Given the description of an element on the screen output the (x, y) to click on. 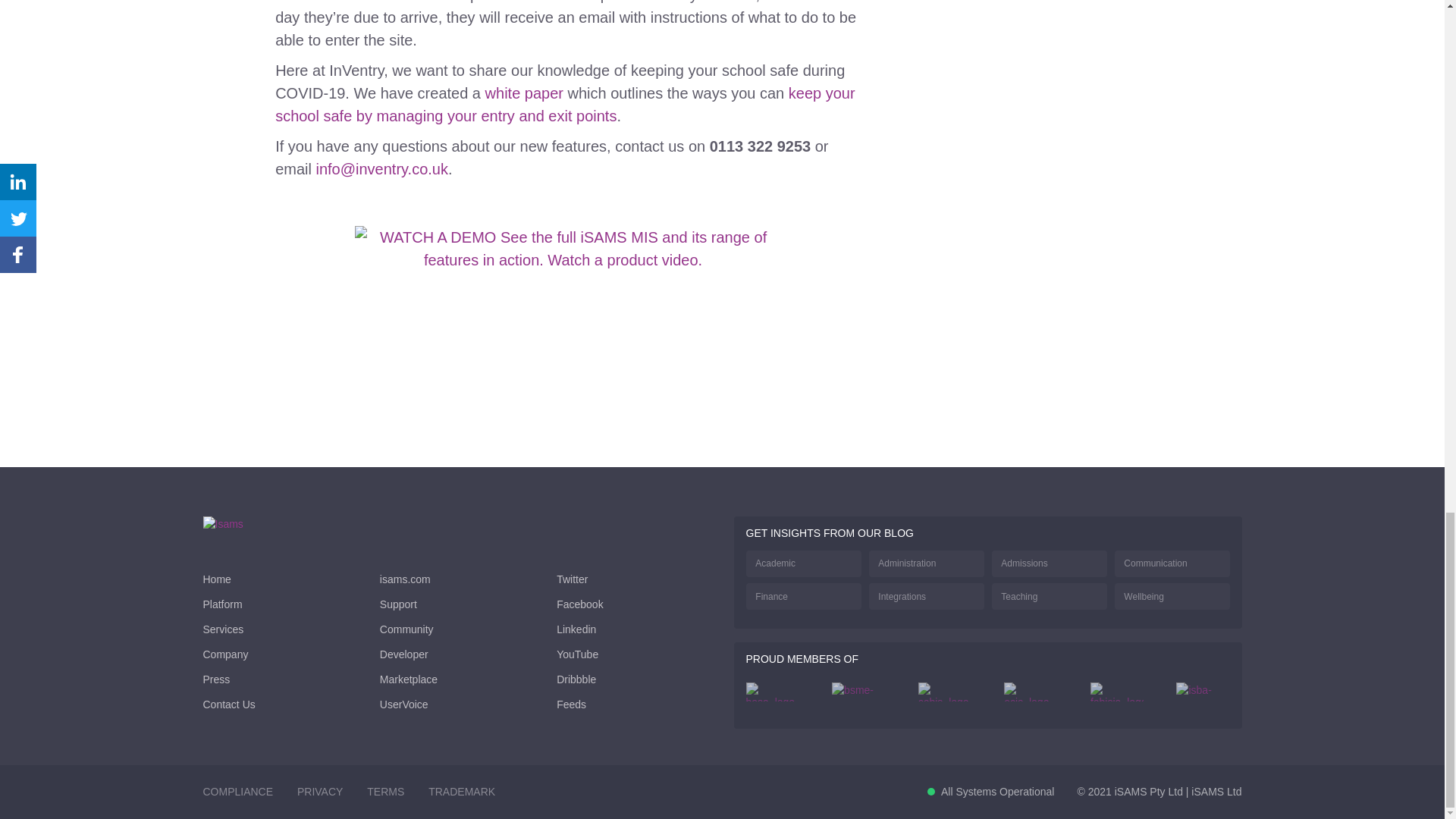
Isams (244, 524)
